Given the description of an element on the screen output the (x, y) to click on. 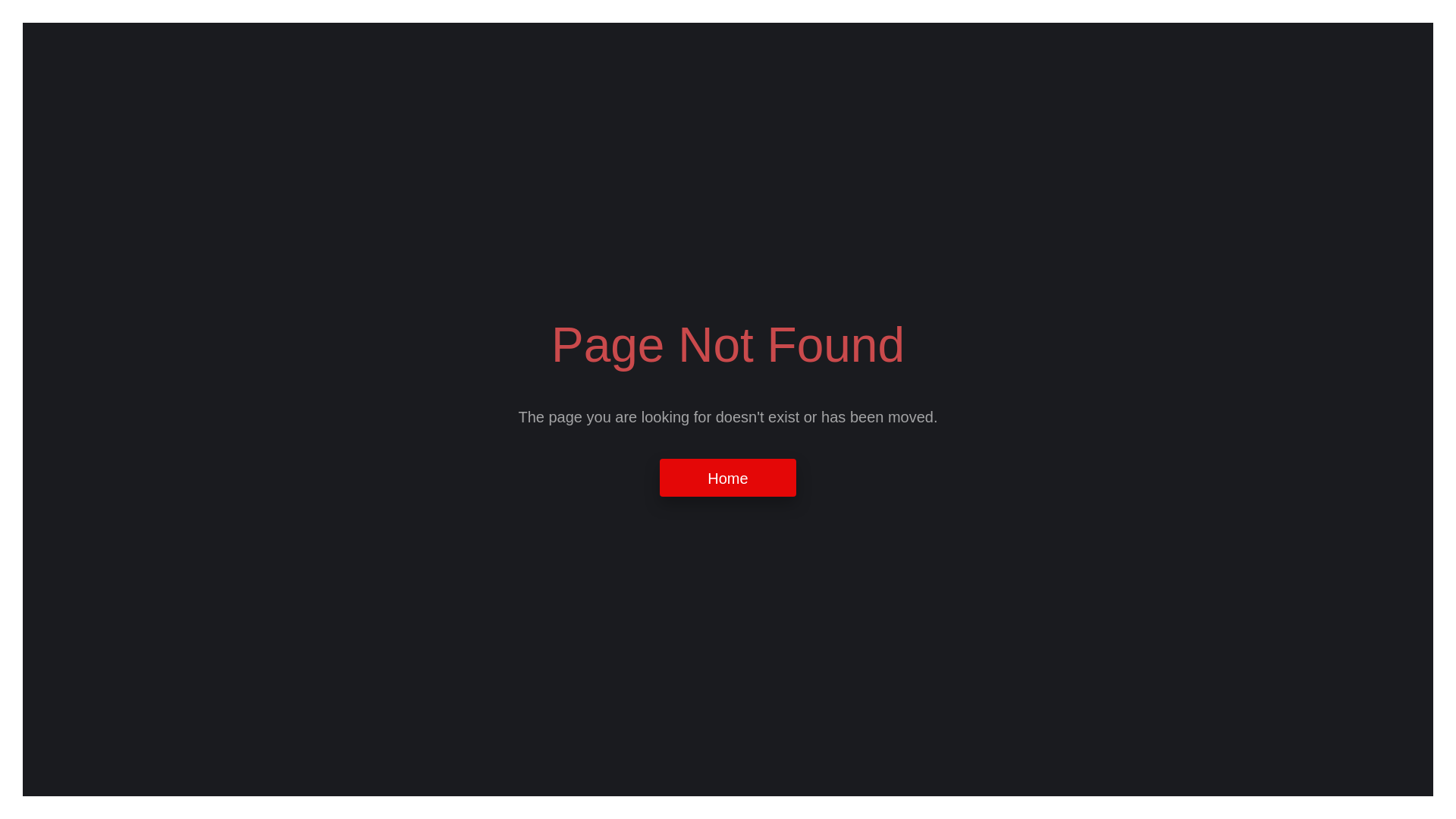
Home Element type: text (727, 477)
